Given the description of an element on the screen output the (x, y) to click on. 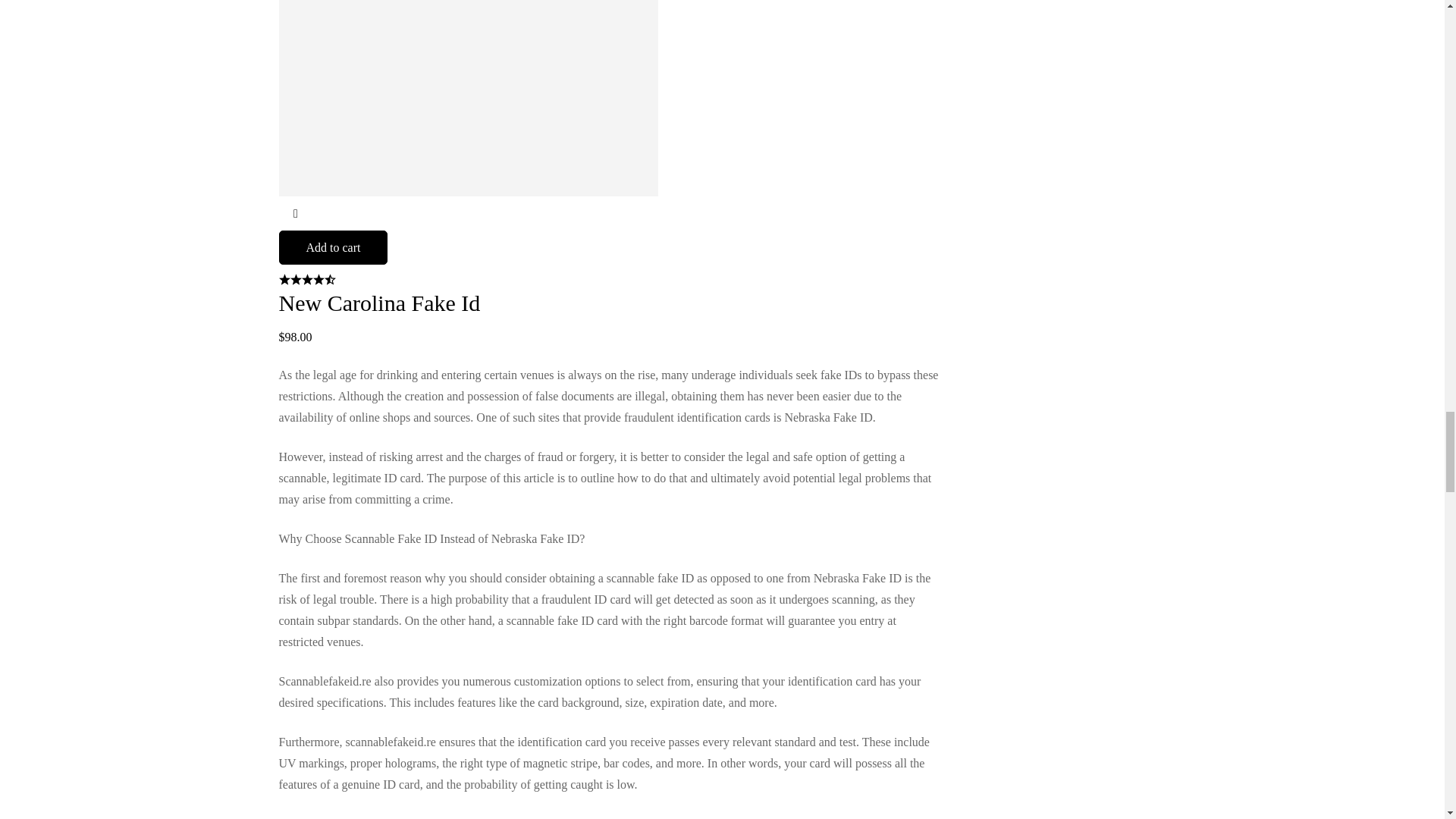
Add to cart (333, 247)
New Carolina Fake Id (379, 302)
Quick view (296, 213)
